Given the description of an element on the screen output the (x, y) to click on. 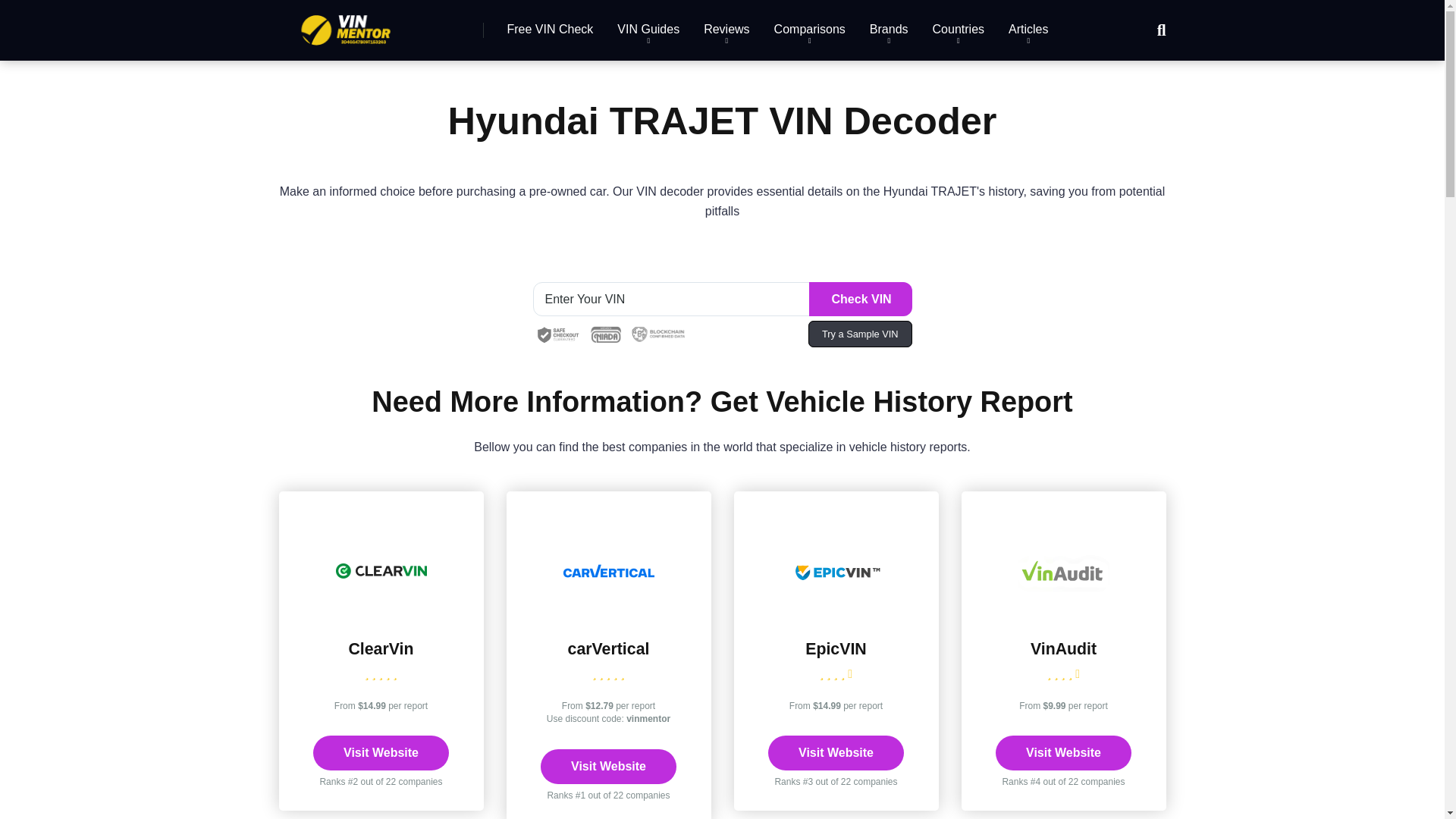
ClearVin (380, 648)
Visit Website (608, 766)
Visit Website (380, 752)
VinAudit (1063, 648)
VIN Mentor (346, 24)
VinAudit (1062, 612)
carVertical (608, 648)
Countries (957, 30)
Brands (888, 30)
EpicVIN (835, 648)
